Given the description of an element on the screen output the (x, y) to click on. 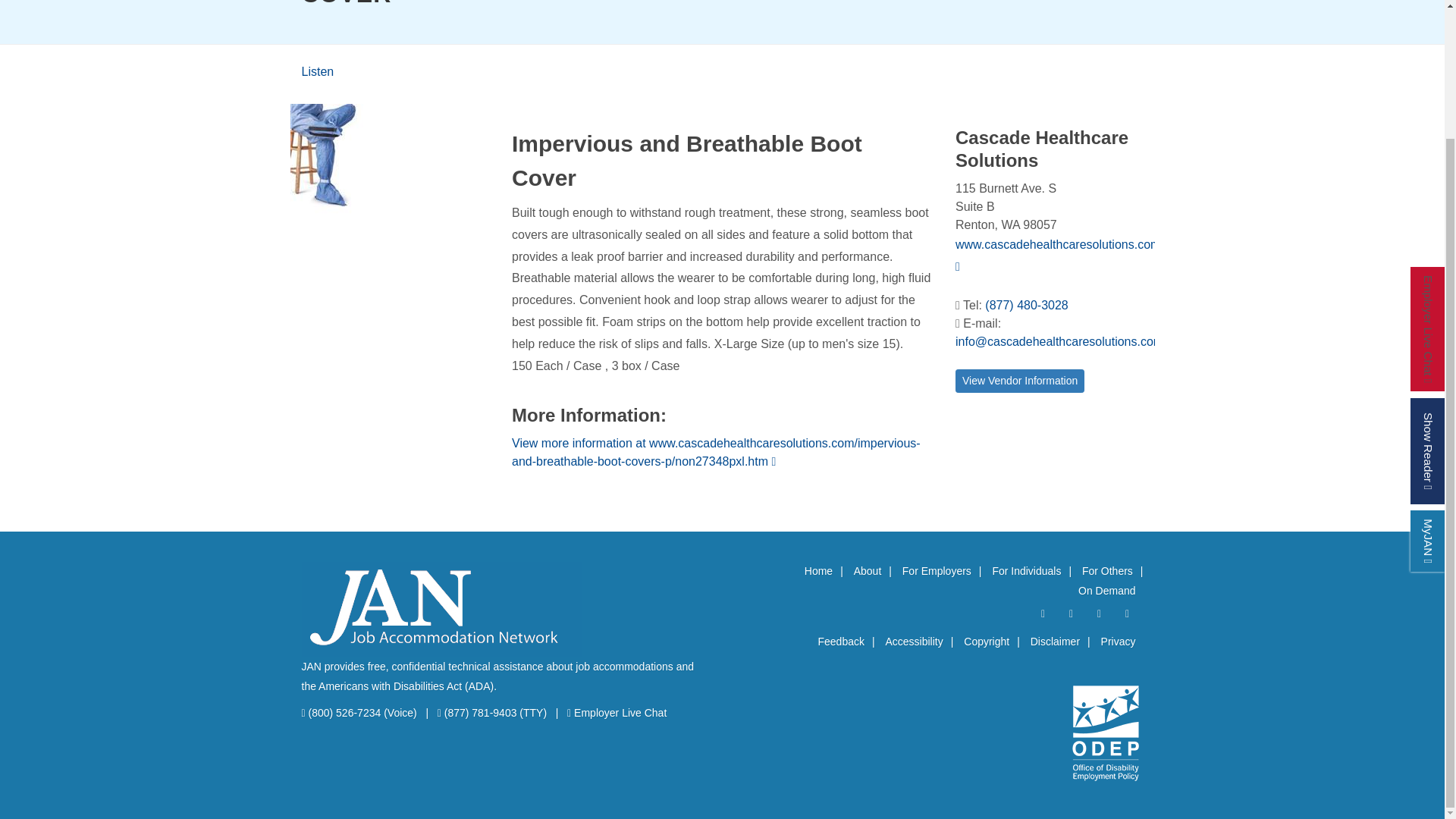
www.cascadehealthcaresolutions.com (1057, 255)
Listen to this page using ReadSpeaker webReader (317, 71)
Listen (317, 71)
